Given the description of an element on the screen output the (x, y) to click on. 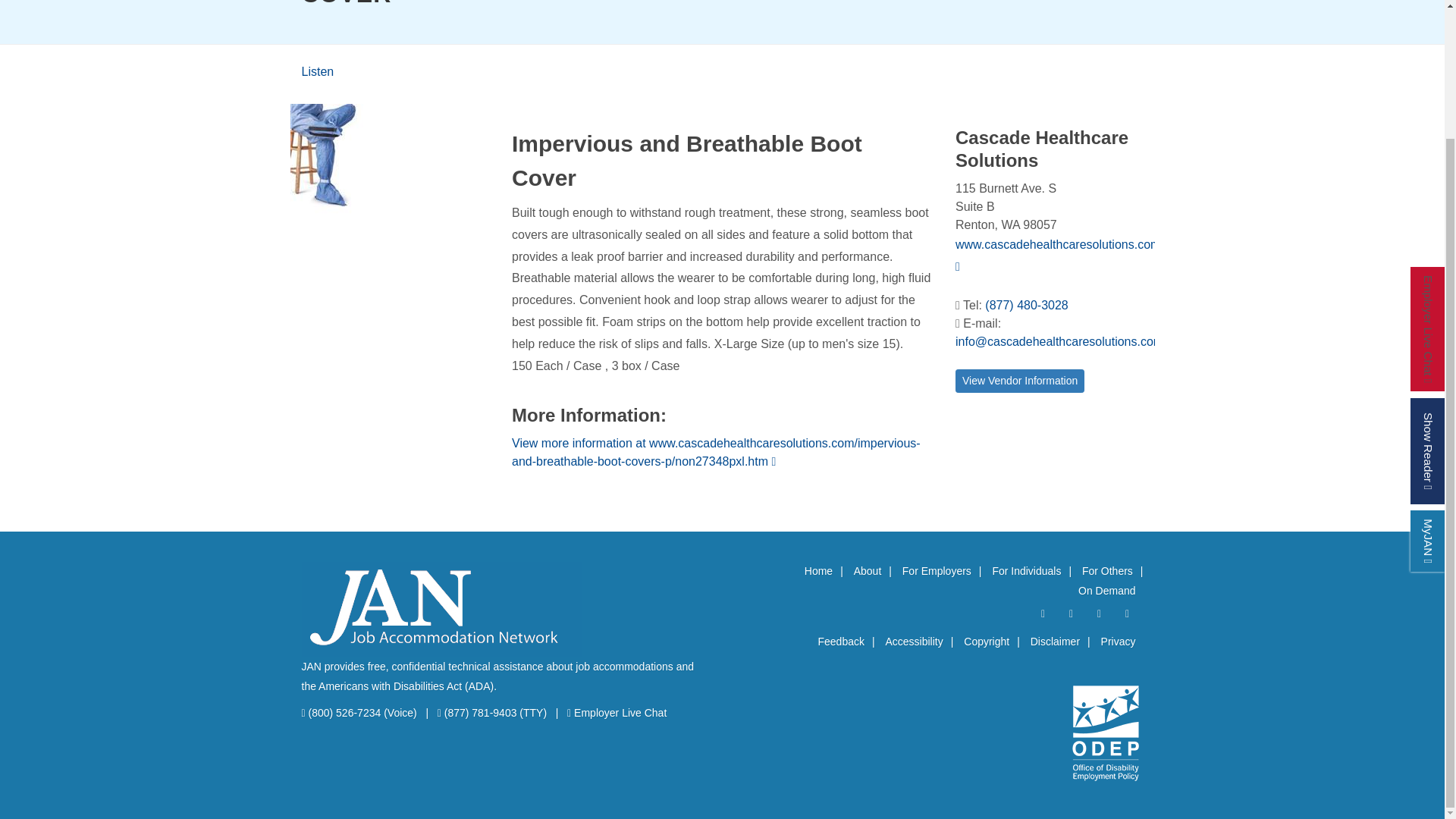
www.cascadehealthcaresolutions.com (1057, 255)
Listen to this page using ReadSpeaker webReader (317, 71)
Listen (317, 71)
